Given the description of an element on the screen output the (x, y) to click on. 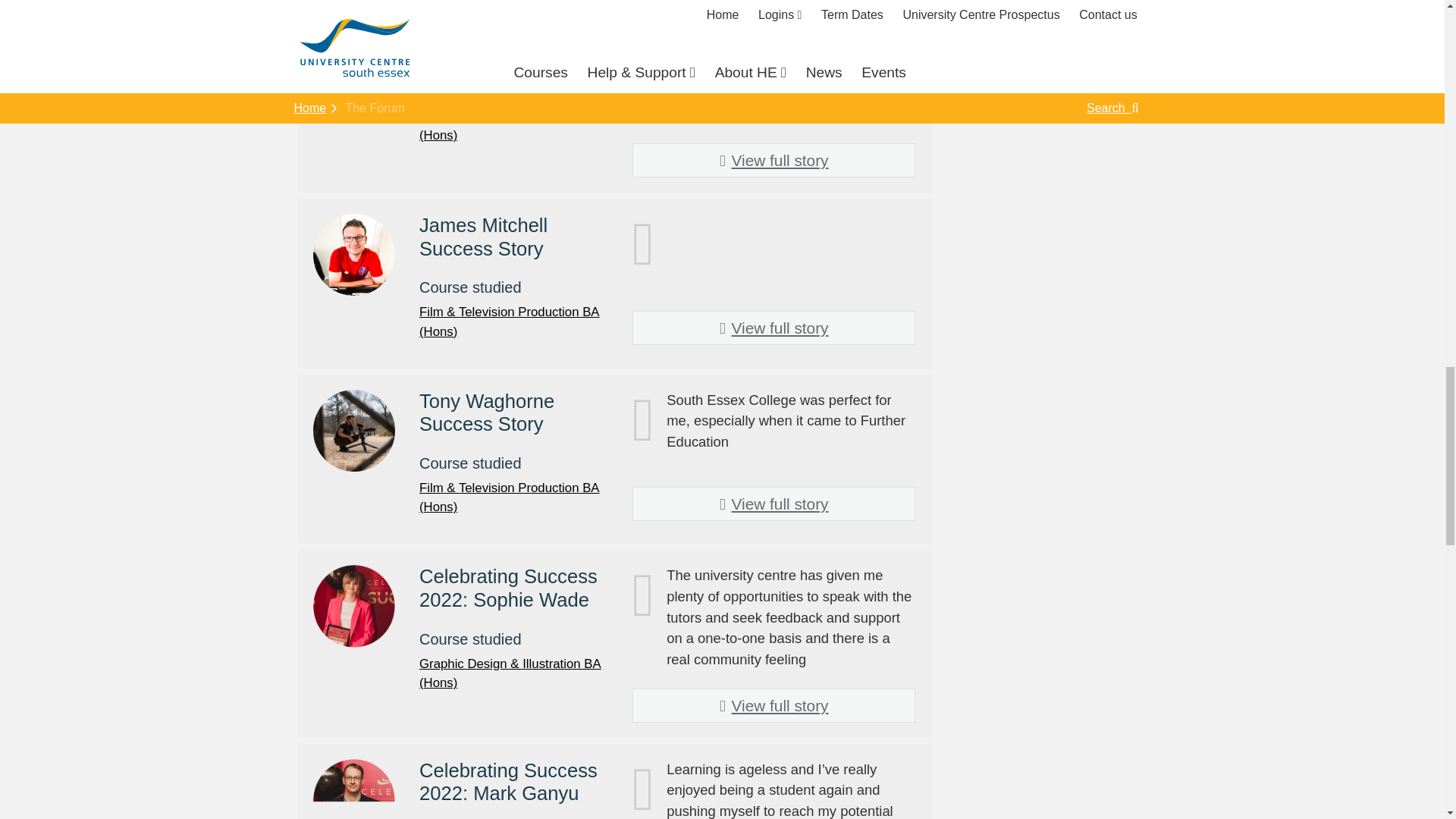
View course (509, 321)
View course (510, 673)
View course (510, 125)
View course (509, 497)
